Given the description of an element on the screen output the (x, y) to click on. 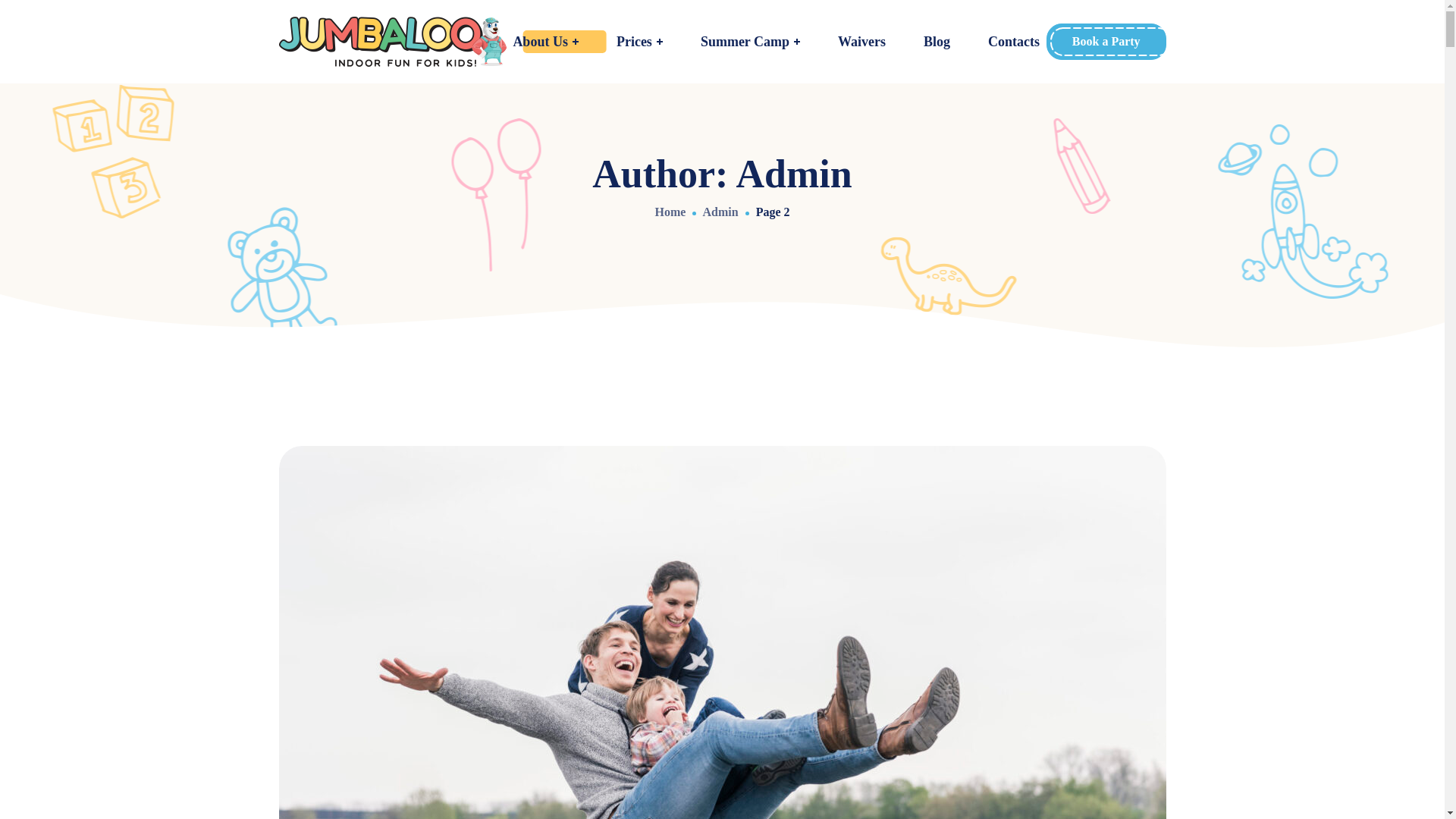
Waivers (861, 41)
About Us (544, 41)
Book a Party (1106, 41)
Contacts (1013, 41)
Prices (638, 41)
Summer Camp (749, 41)
